Given the description of an element on the screen output the (x, y) to click on. 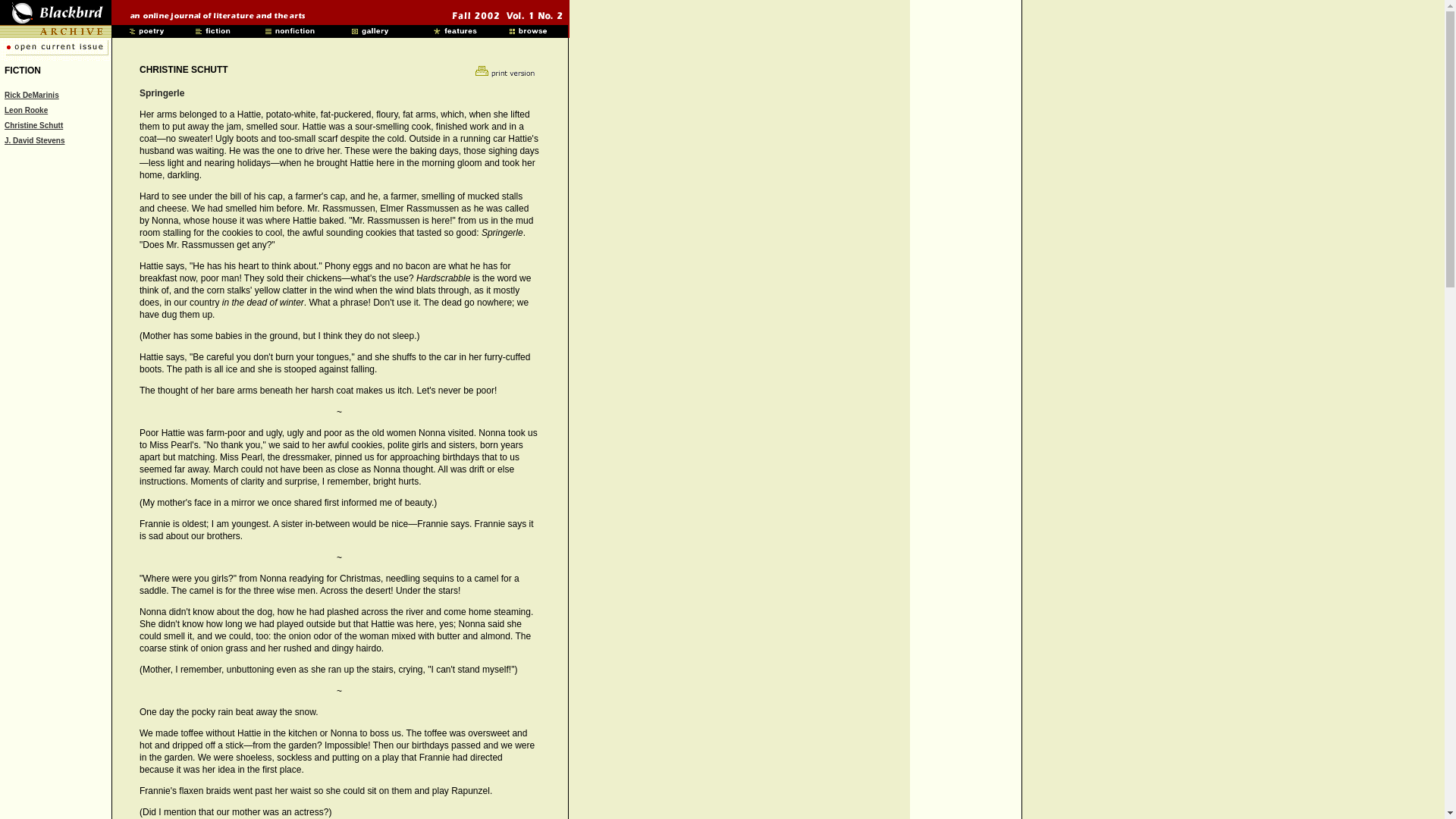
J. David Stevens (34, 140)
Leon Rooke (26, 110)
Rick DeMarinis (31, 94)
Christine Schutt (33, 125)
